Given the description of an element on the screen output the (x, y) to click on. 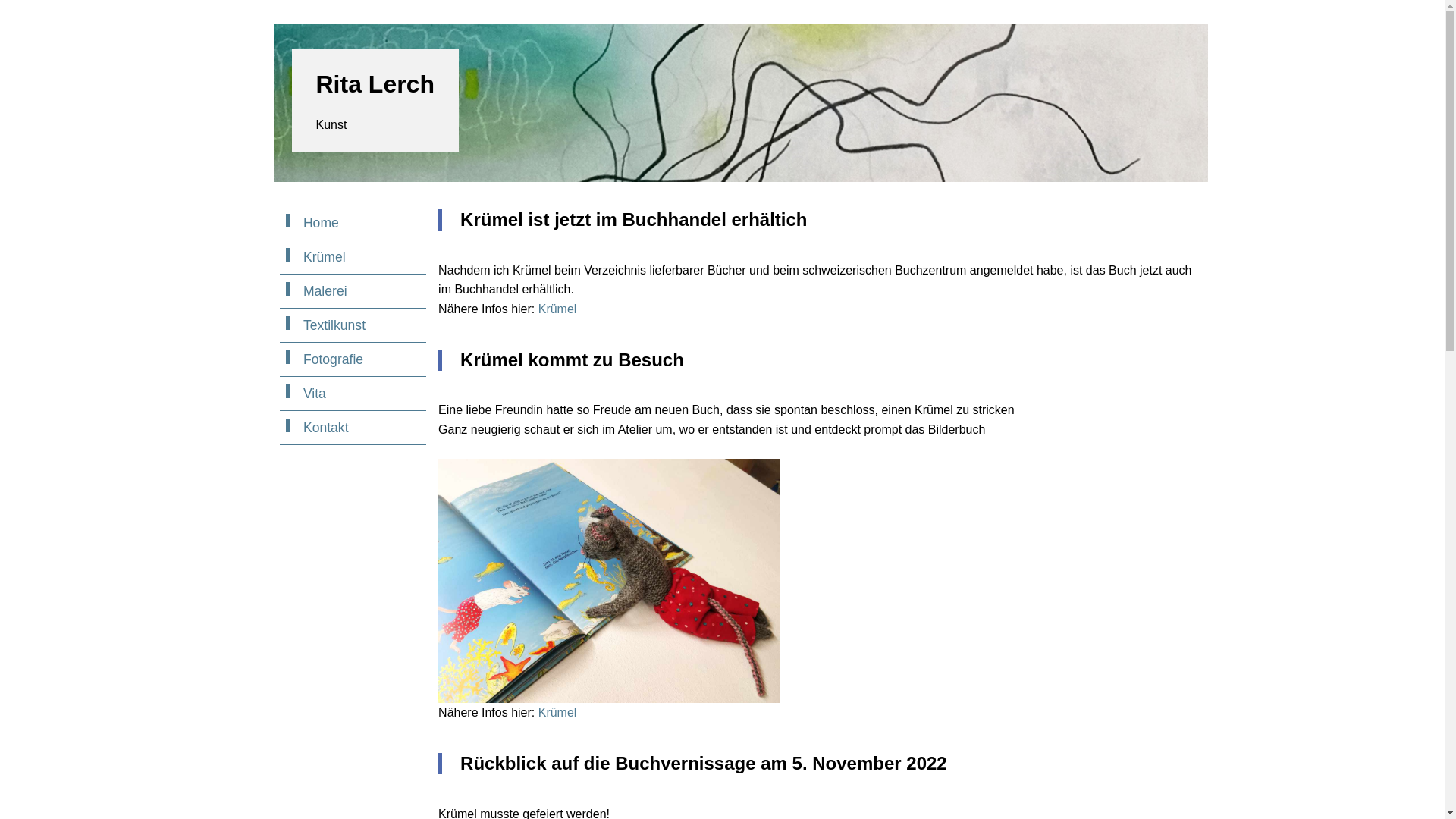
Fotografie Element type: text (352, 359)
Home Element type: text (352, 223)
Textilkunst Element type: text (352, 325)
Vita Element type: text (352, 393)
Kontakt Element type: text (352, 428)
Rita Lerch
Kunst Element type: text (374, 100)
Malerei Element type: text (352, 291)
